Given the description of an element on the screen output the (x, y) to click on. 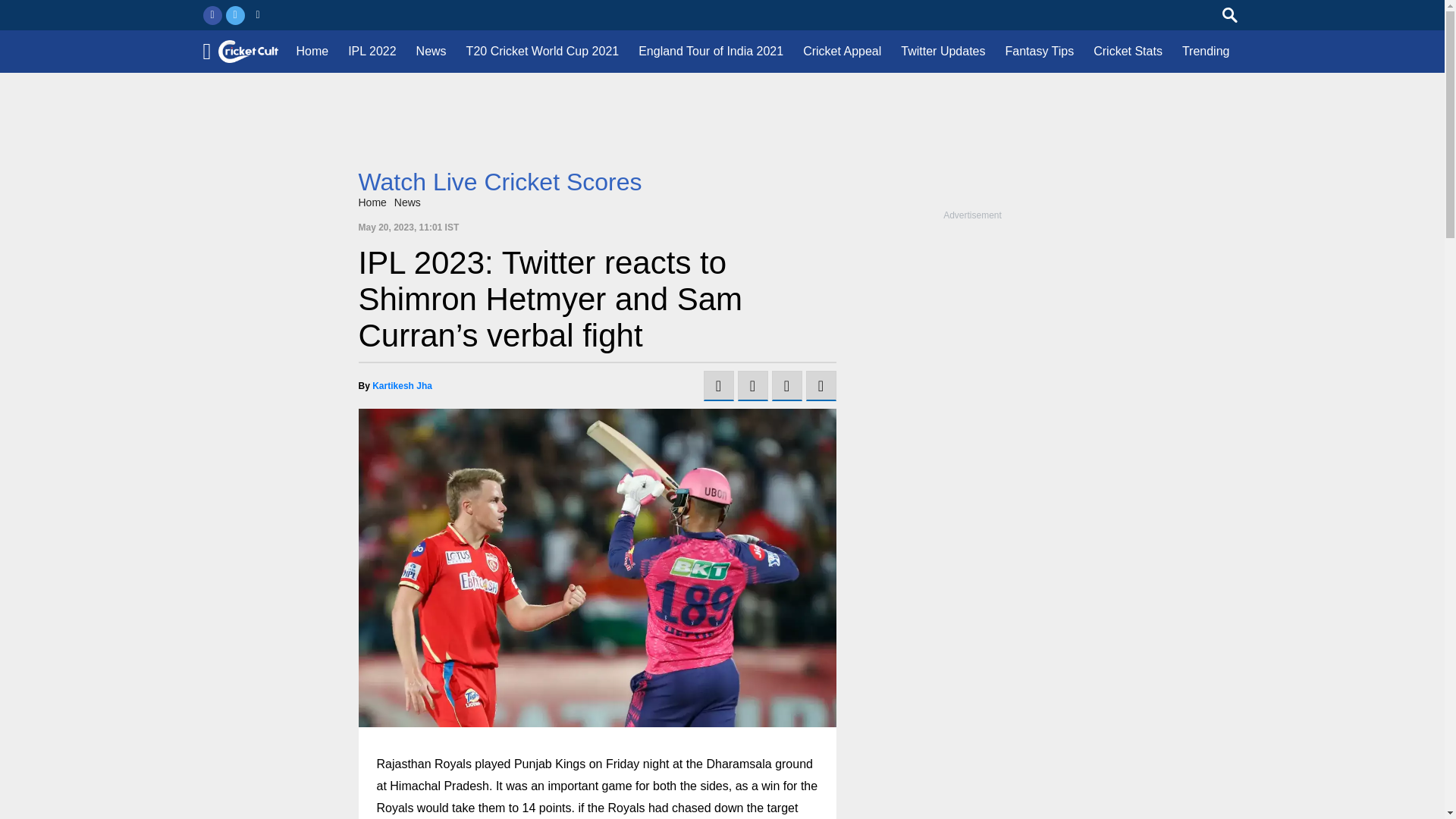
Twitter (234, 15)
Twitter Updates (942, 51)
Cricket Appeal (842, 51)
Trending (1206, 51)
Instagram (257, 15)
Rechercher (1229, 15)
Facebook (212, 15)
Home (371, 202)
News (431, 51)
IPL 2022 (371, 51)
